Given the description of an element on the screen output the (x, y) to click on. 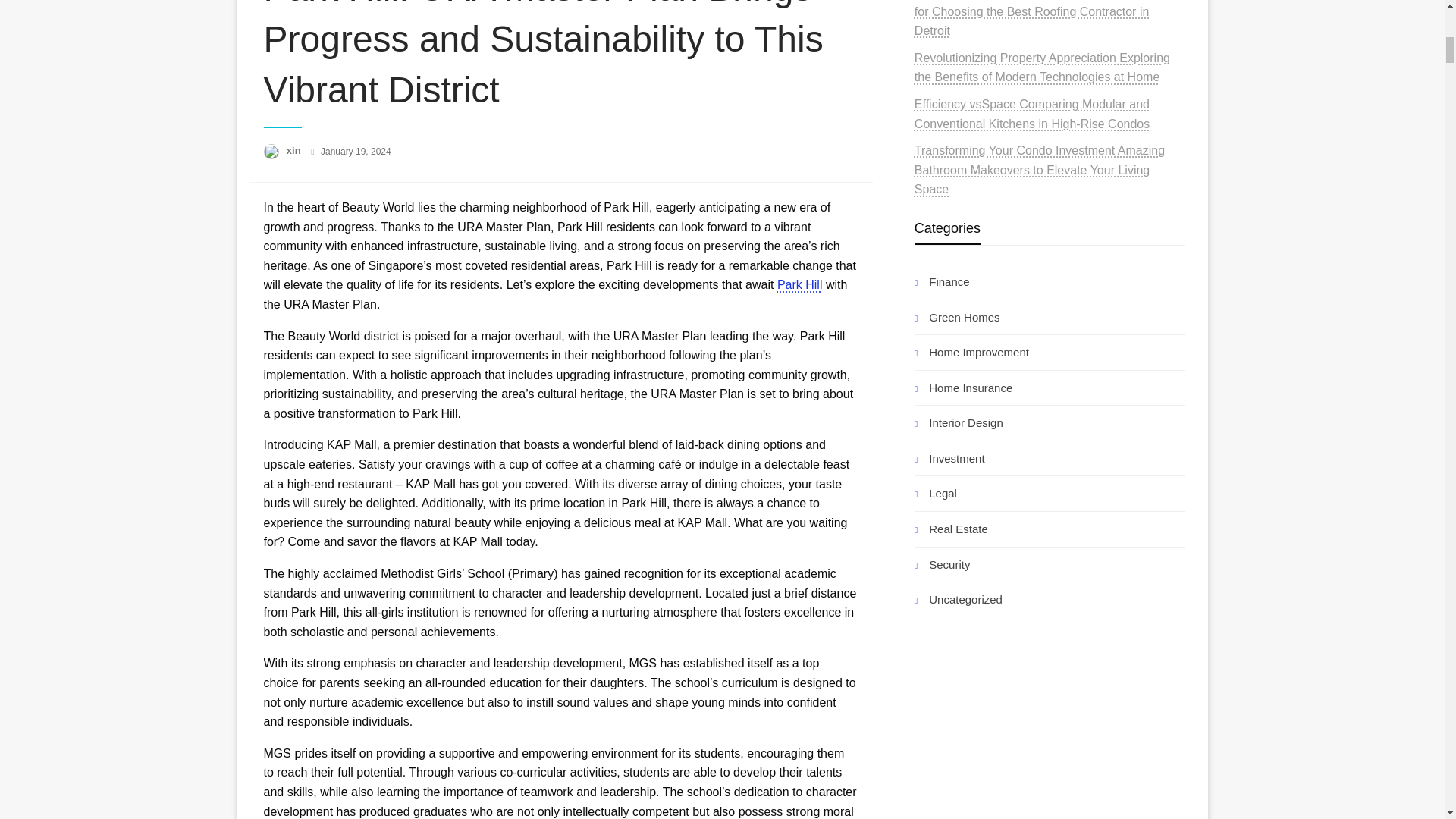
xin (294, 150)
Park Hill (799, 284)
January 19, 2024 (355, 151)
xin (294, 150)
